Given the description of an element on the screen output the (x, y) to click on. 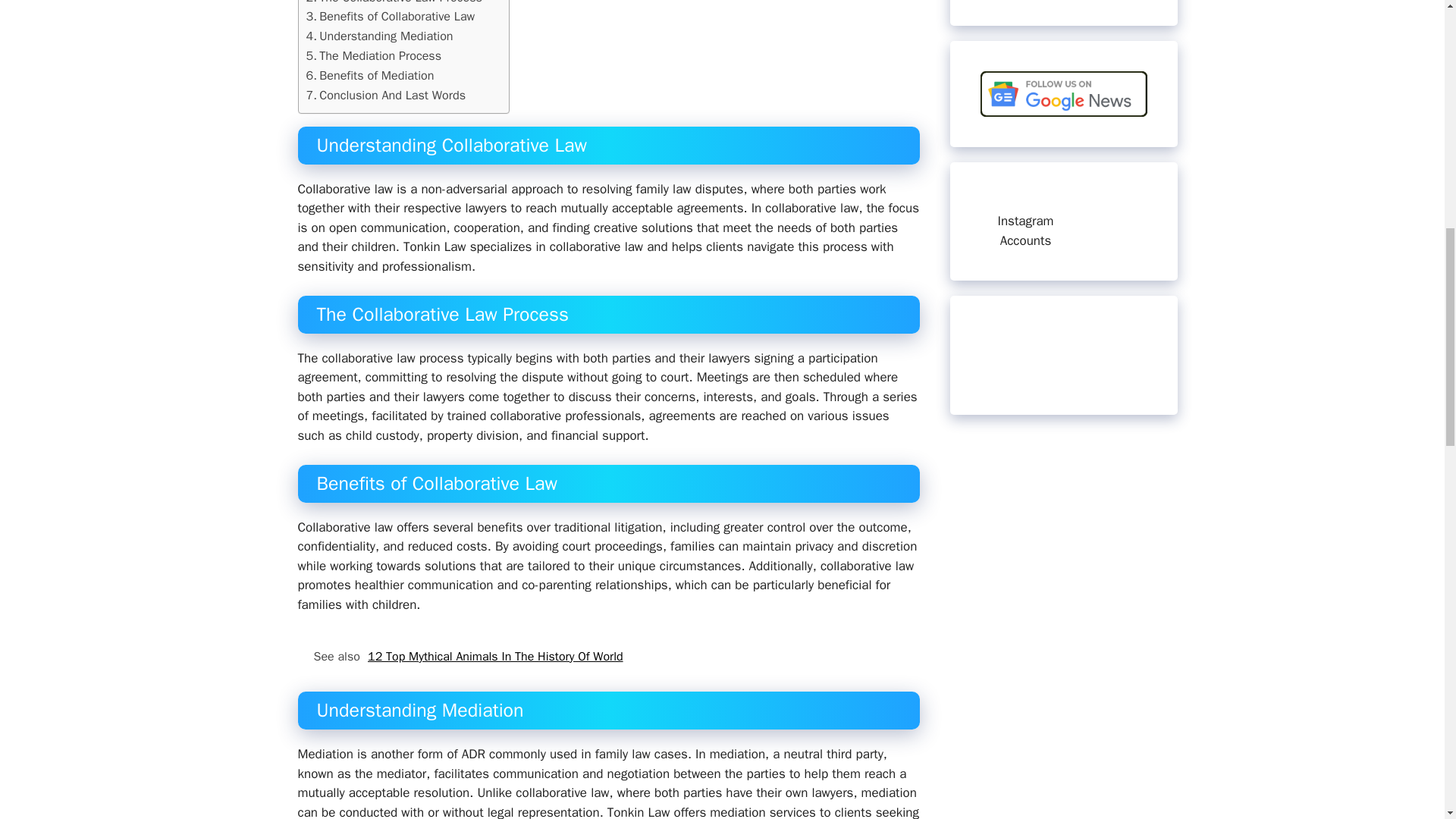
See also  12 Top Mythical Animals In The History Of World (607, 656)
The Collaborative Law Process (393, 3)
Instagram Accounts (1024, 230)
Understanding Mediation (378, 35)
Benefits of Collaborative Law (390, 16)
Understanding Mediation (378, 35)
Conclusion And Last Words (385, 95)
The Mediation Process (373, 55)
Benefits of Collaborative Law (390, 16)
The Collaborative Law Process (393, 3)
Benefits of Mediation (369, 75)
The Mediation Process (373, 55)
Benefits of Mediation (369, 75)
Conclusion And Last Words (385, 95)
